Given the description of an element on the screen output the (x, y) to click on. 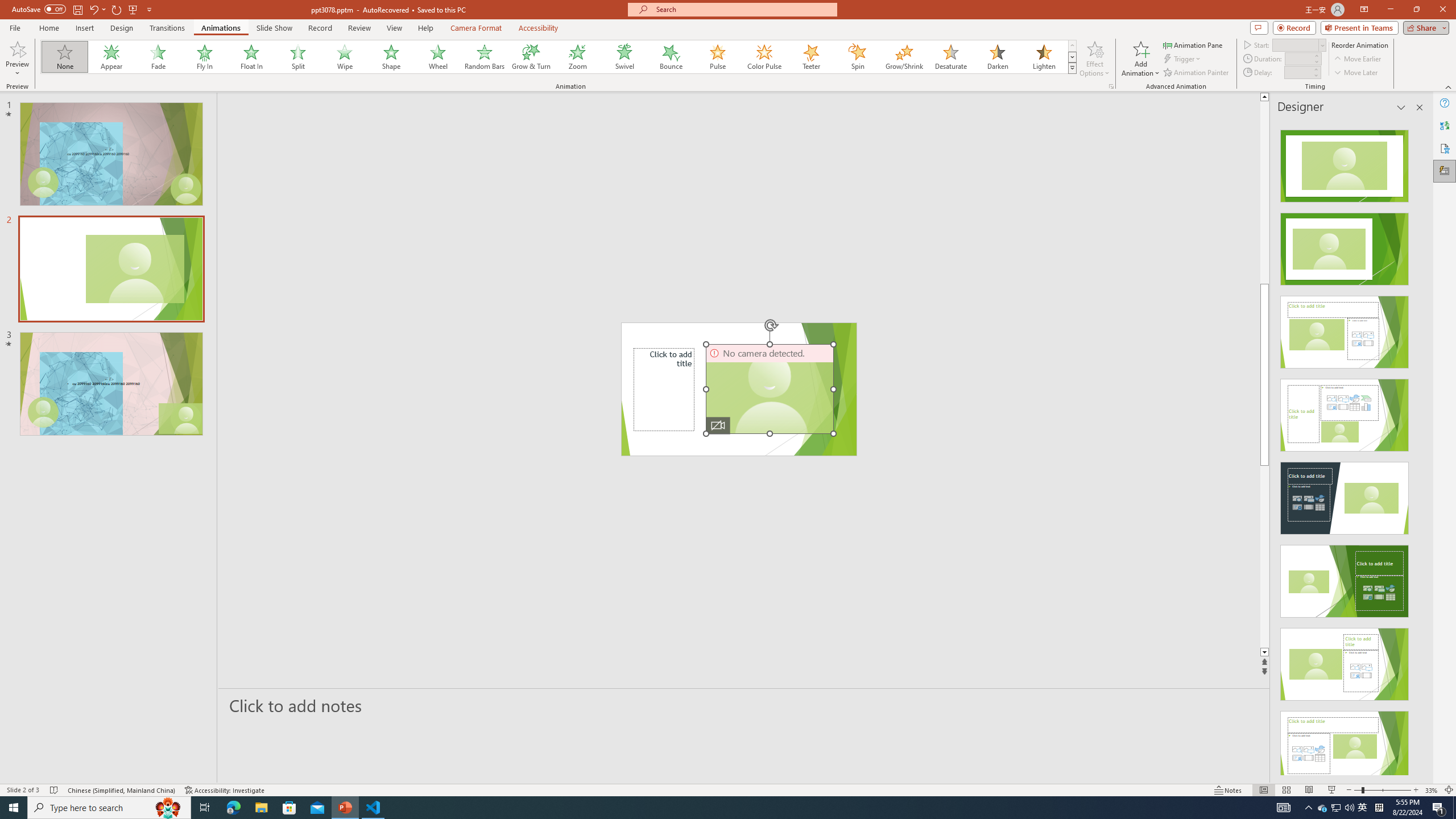
Swivel (624, 56)
Pulse (717, 56)
More (1315, 69)
Animation Pane (1193, 44)
Bounce (670, 56)
Desaturate (950, 56)
